Given the description of an element on the screen output the (x, y) to click on. 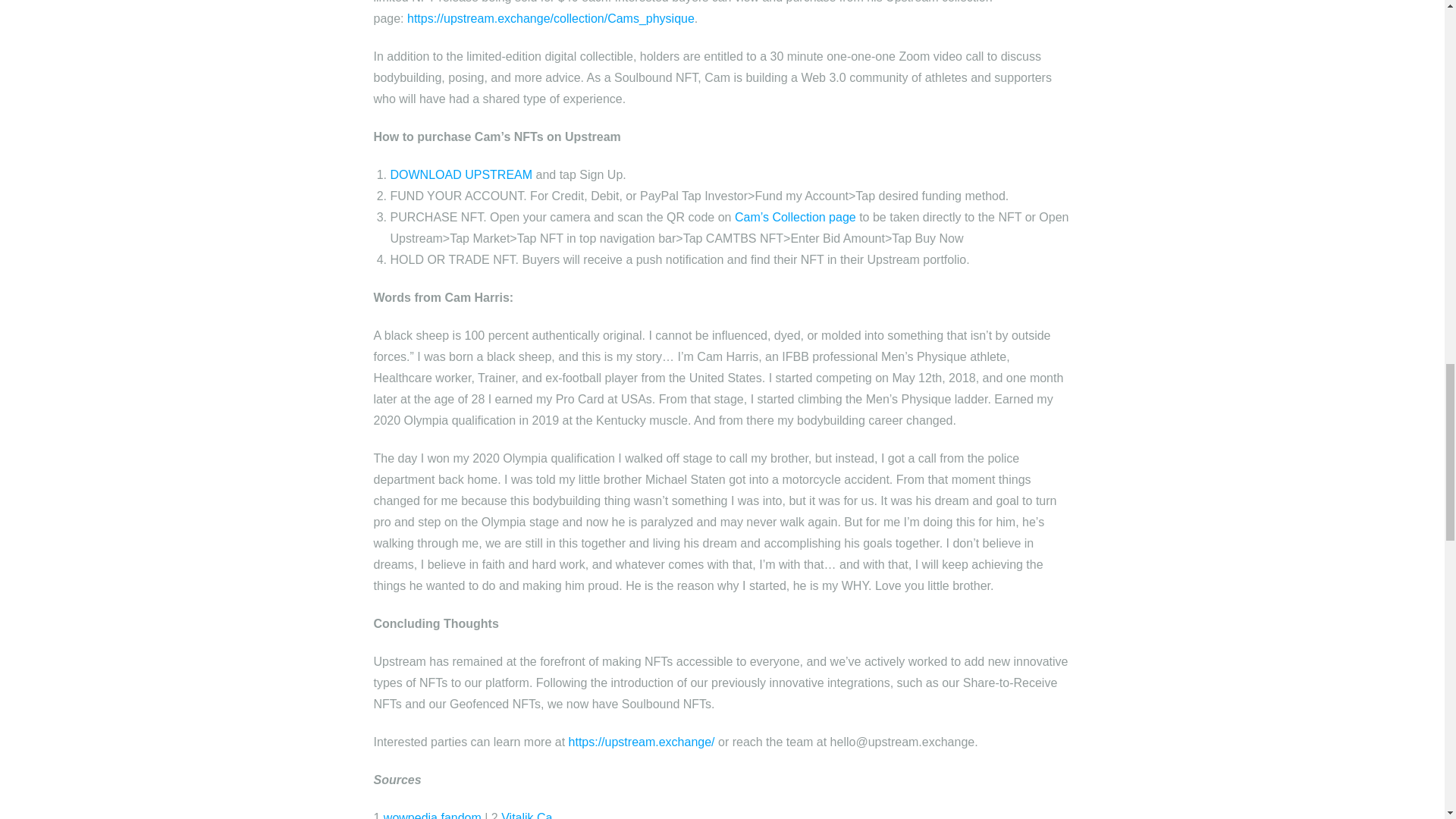
wowpedia.fandom (432, 815)
Vitalik.Ca (525, 815)
DOWNLOAD UPSTREAM (461, 174)
